Given the description of an element on the screen output the (x, y) to click on. 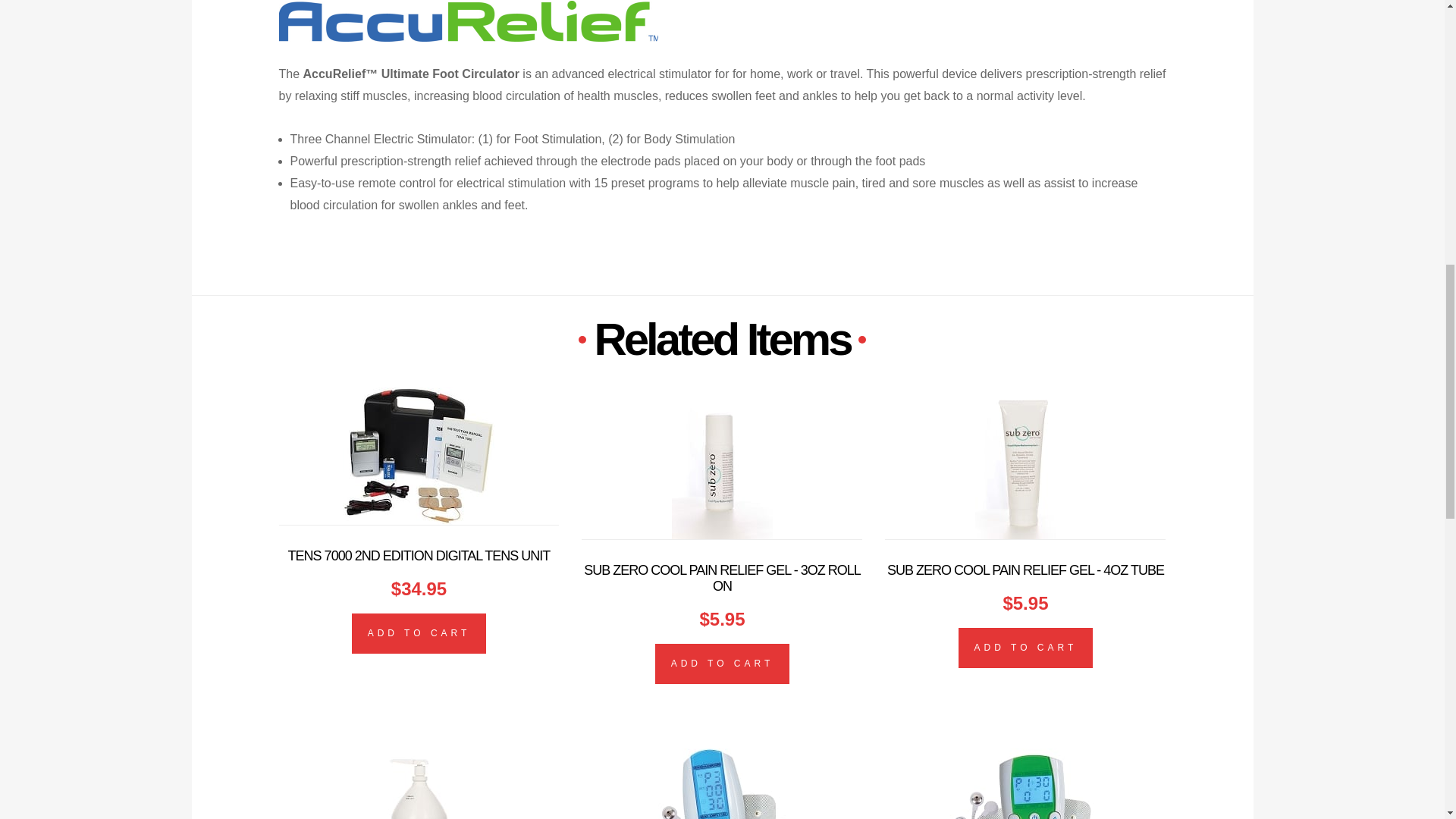
SUB ZERO COOL PAIN RELIEF GEL - 3OZ ROLL ON (721, 577)
Add To Cart (722, 663)
Add To Cart (1025, 648)
Add To Cart (419, 633)
TENS 7000 2ND EDITION DIGITAL TENS UNIT (419, 555)
